Given the description of an element on the screen output the (x, y) to click on. 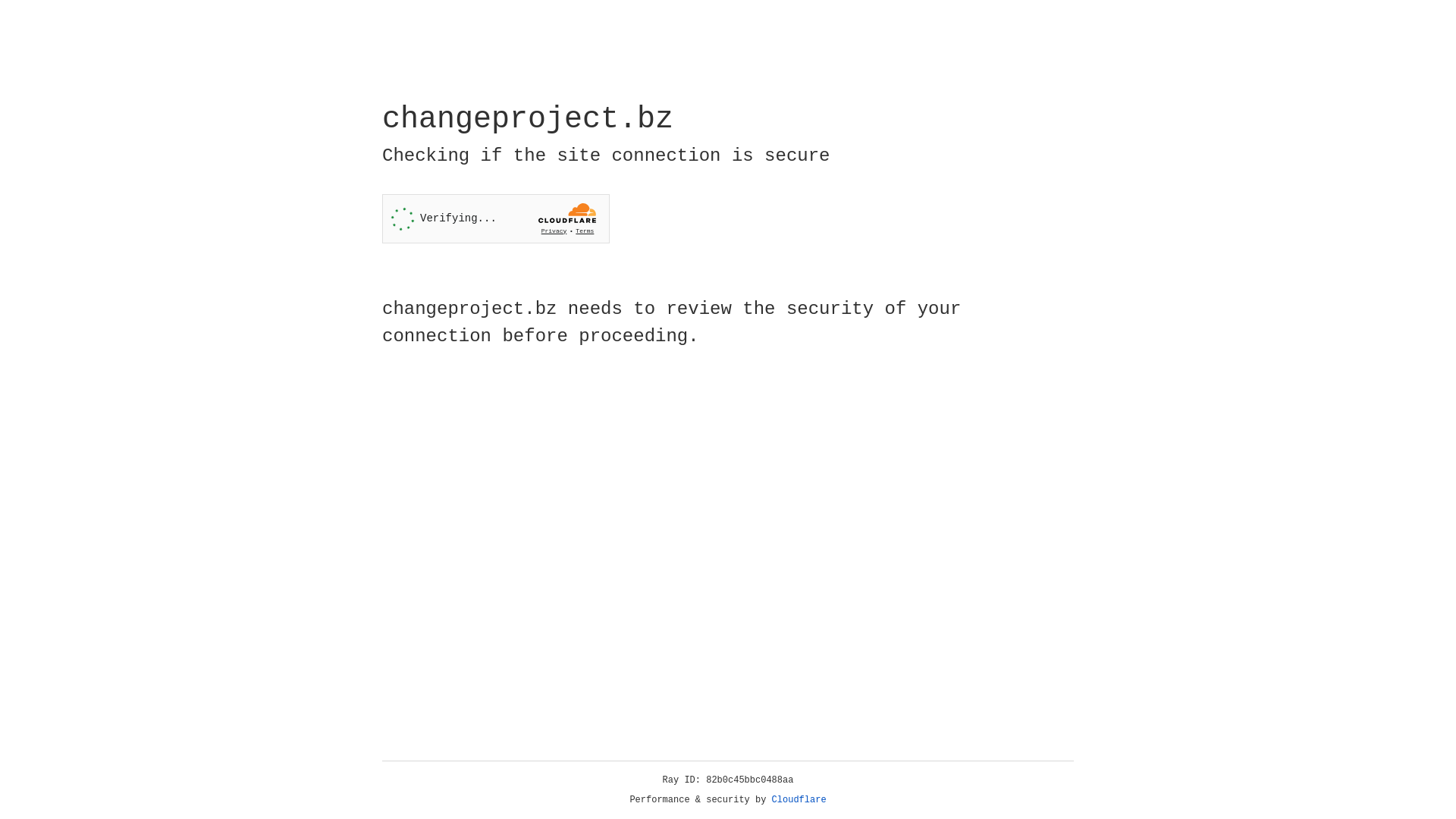
Widget containing a Cloudflare security challenge Element type: hover (495, 218)
Cloudflare Element type: text (798, 799)
